Given the description of an element on the screen output the (x, y) to click on. 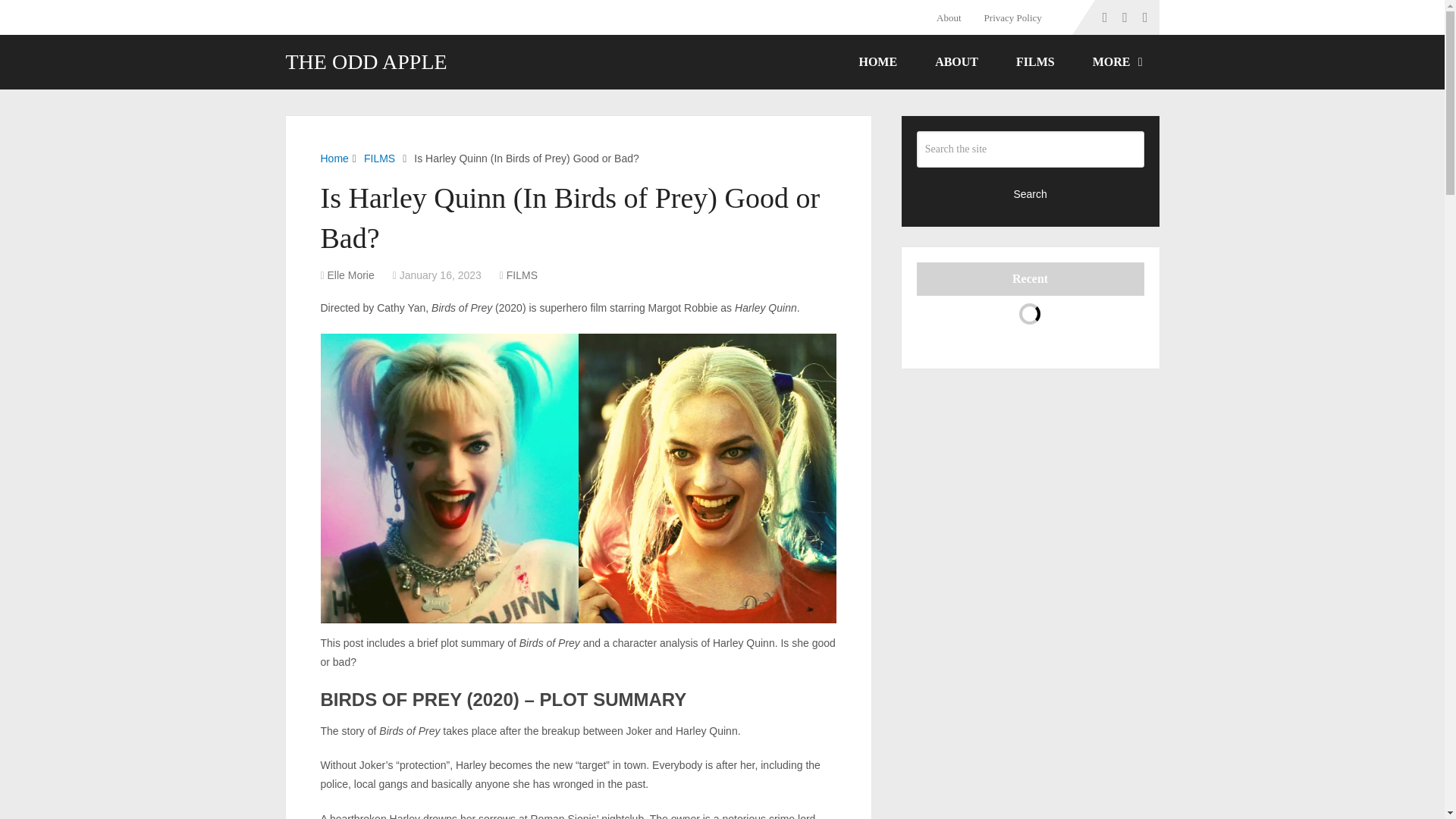
ABOUT (956, 62)
FILMS (1035, 62)
Recent (1030, 278)
FILMS (379, 158)
FILMS (521, 275)
Home (333, 158)
Privacy Policy (1012, 17)
Search (1030, 193)
HOME (877, 62)
Elle Morie (350, 275)
Posts by Elle Morie (350, 275)
THE ODD APPLE (365, 61)
MORE (1116, 62)
View all posts in FILMS (521, 275)
About (954, 17)
